Given the description of an element on the screen output the (x, y) to click on. 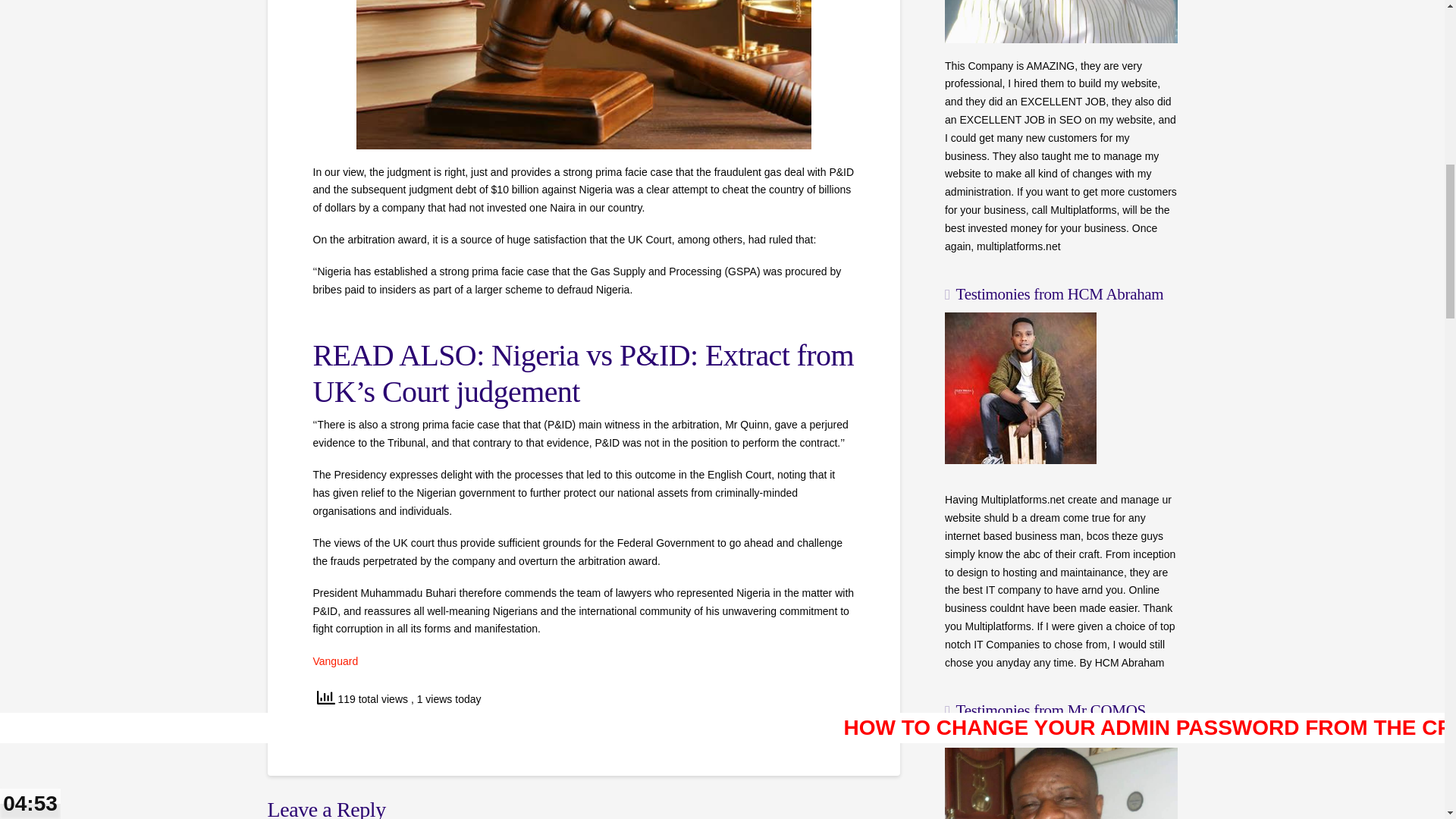
Vanguard (335, 661)
